Given the description of an element on the screen output the (x, y) to click on. 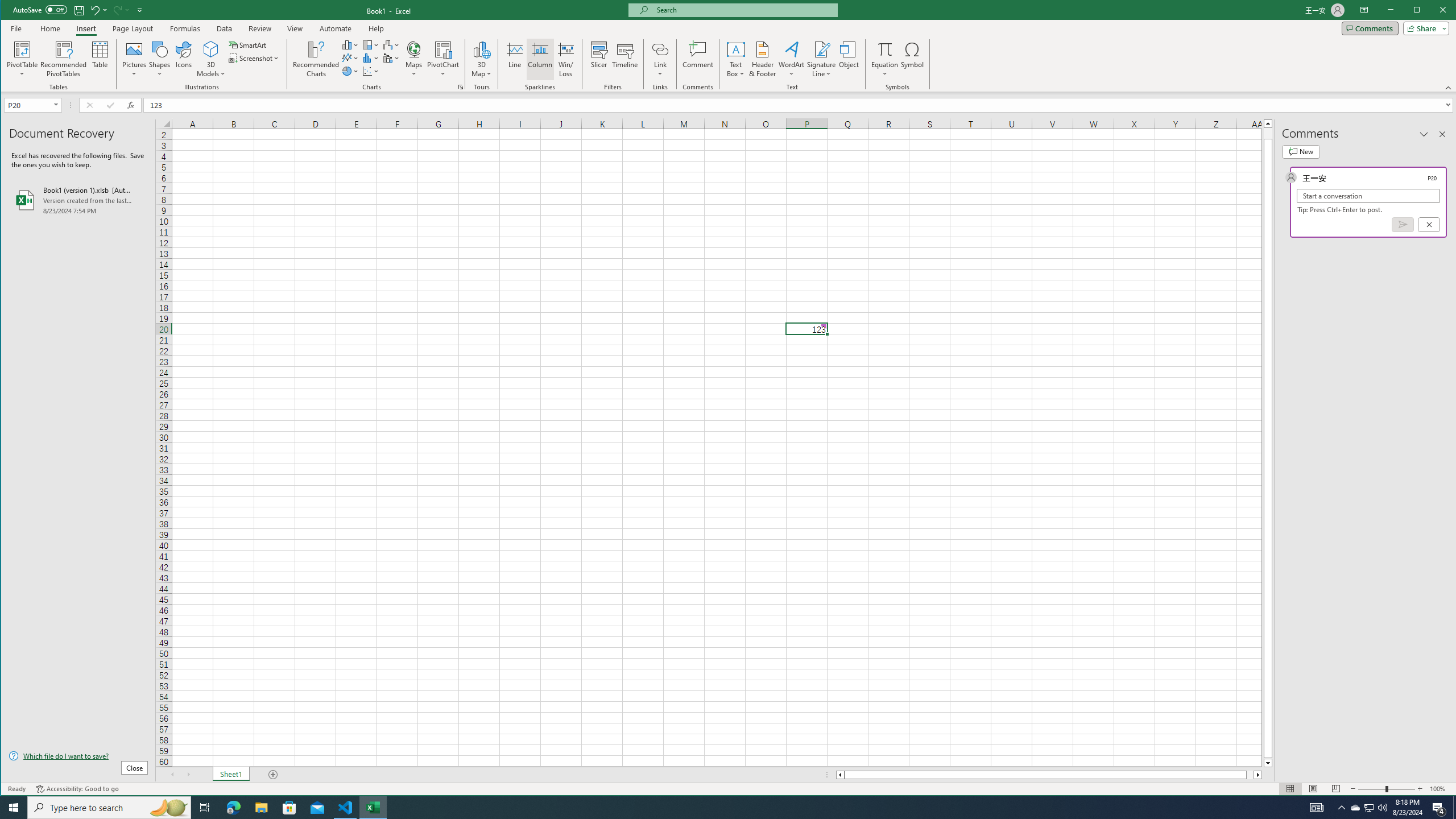
Microsoft Edge (233, 807)
Start a conversation (1368, 195)
Maximize (1432, 11)
Slicer... (598, 59)
Insert Waterfall, Funnel, Stock, Surface, or Radar Chart (1355, 807)
3D Models (391, 44)
PivotTable (211, 59)
